Given the description of an element on the screen output the (x, y) to click on. 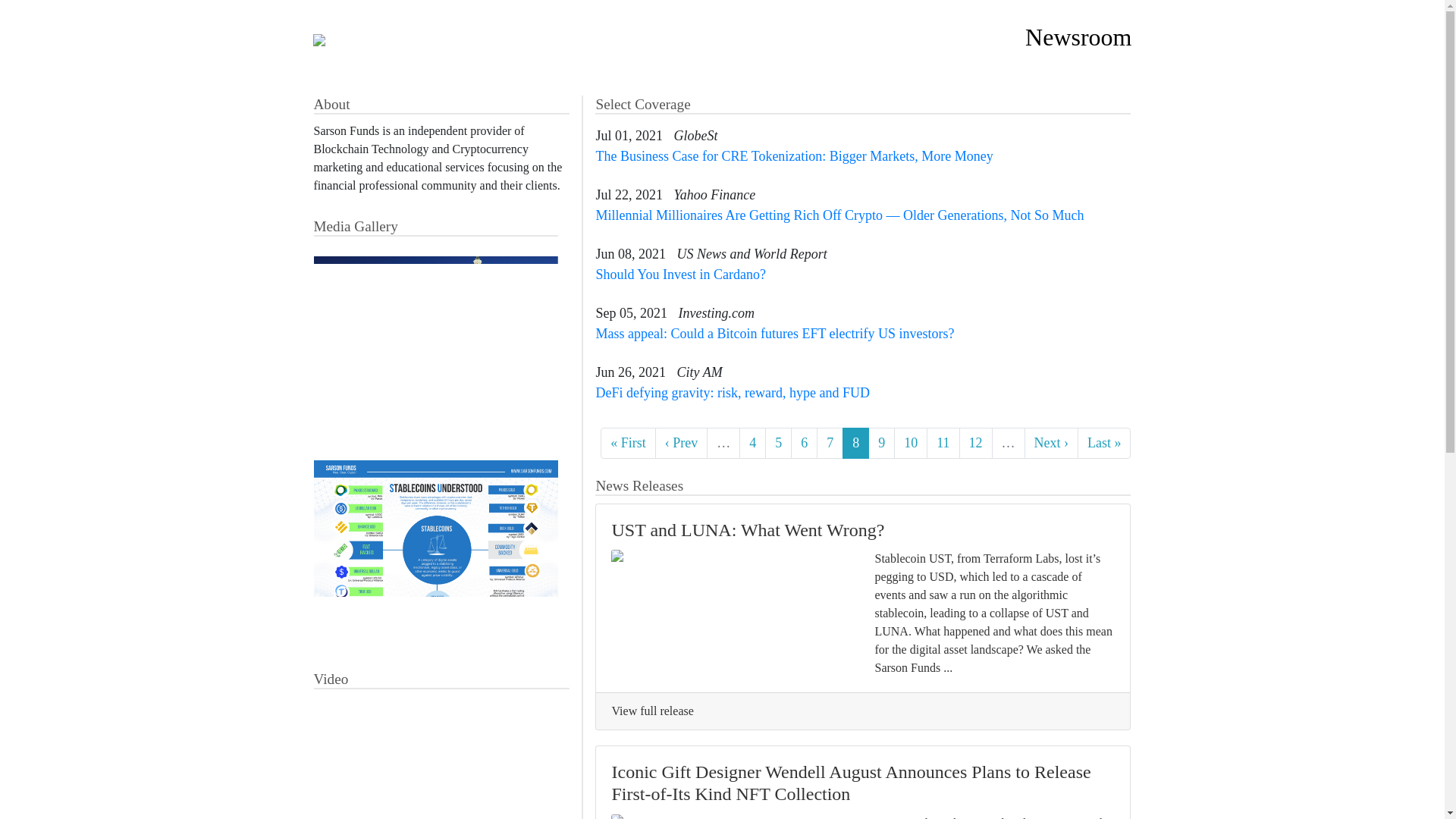
10 (910, 442)
11 (942, 442)
12 (974, 442)
Stabelcoins Understood -  (436, 551)
DeFi defying gravity: risk, reward, hype and FUD (732, 392)
Should You Invest in Cardano? (680, 273)
